Given the description of an element on the screen output the (x, y) to click on. 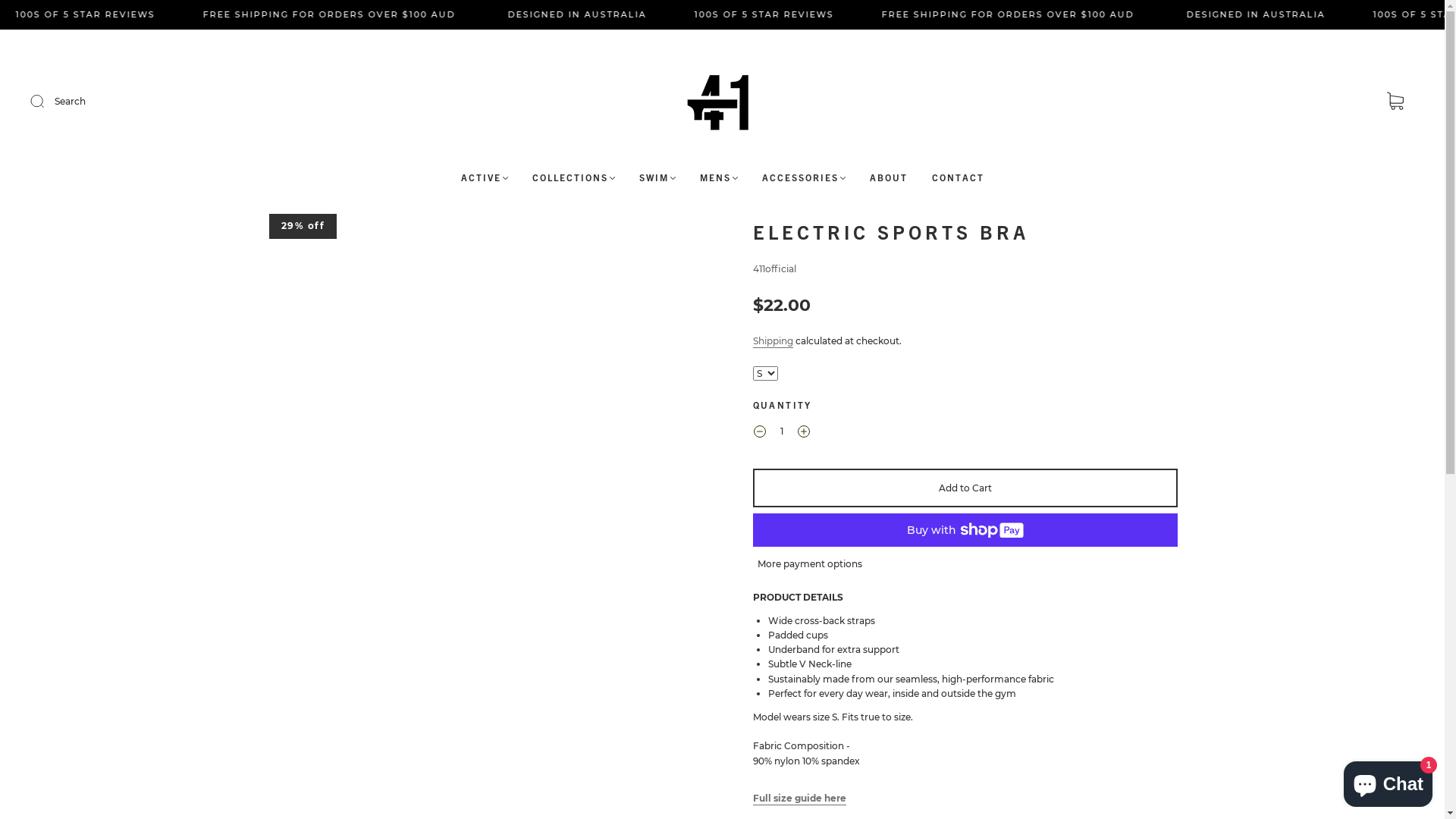
411official Element type: text (773, 268)
SWIM Element type: text (656, 177)
Shipping Element type: text (772, 341)
ACCESSORIES Element type: text (802, 177)
More payment options Element type: text (809, 563)
Full size guide here Element type: text (798, 798)
Add to Cart Element type: text (964, 487)
MENS Element type: text (718, 177)
ACTIVE Element type: text (484, 177)
ABOUT Element type: text (887, 177)
CONTACT Element type: text (957, 177)
COLLECTIONS Element type: text (573, 177)
Shopify online store chat Element type: hover (1388, 780)
